Given the description of an element on the screen output the (x, y) to click on. 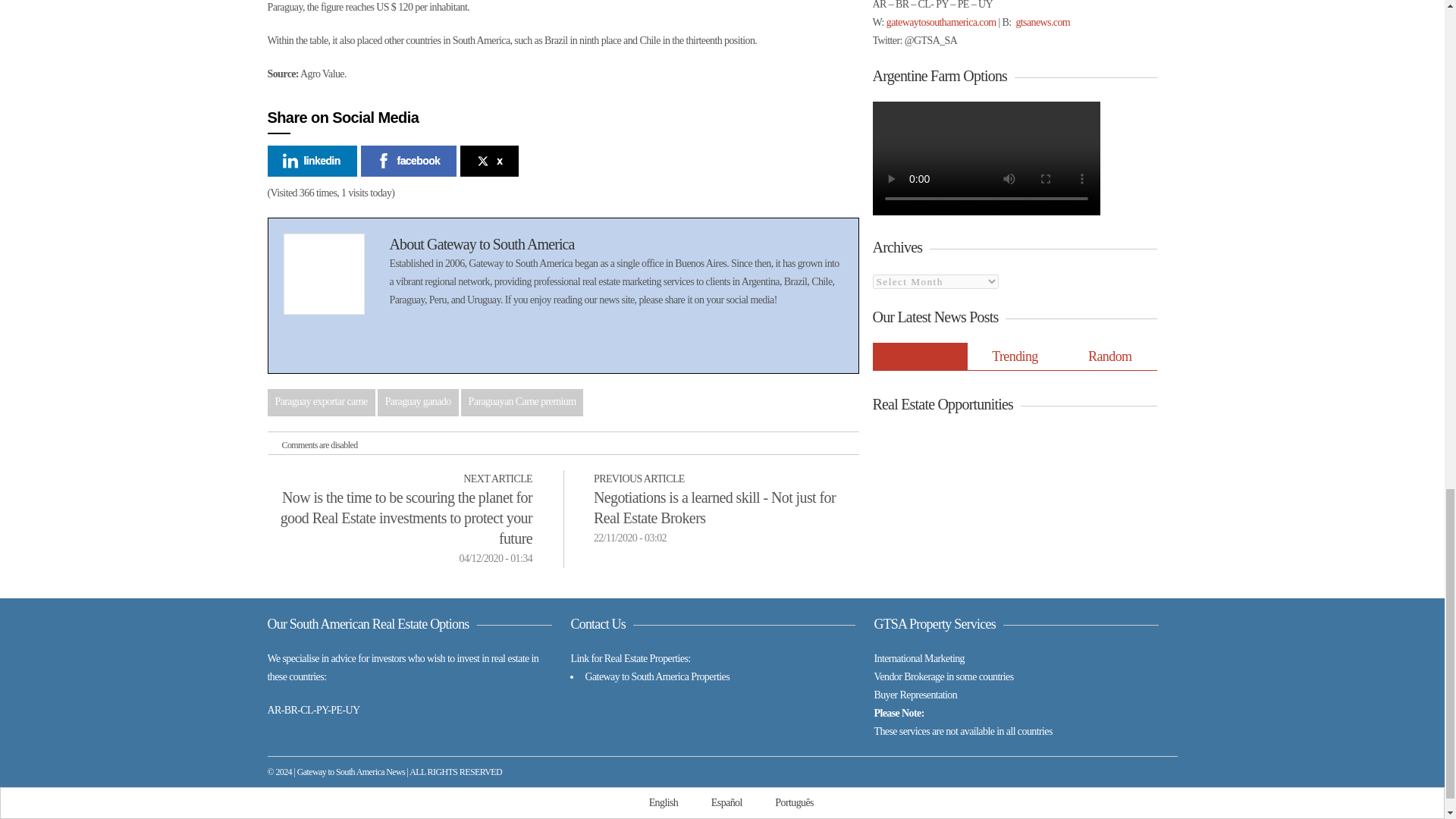
Gateway to South America On LinkedIn (528, 344)
Gateway to South America On Vimeo (556, 344)
Gateway to South America On Twitter (472, 344)
Gateway to South America On The Web (444, 344)
Gateway to South America On Facebook (499, 344)
Gateway to South America On Instagram (584, 344)
Comments are disabled (315, 443)
Send Gateway to South America Mail (416, 344)
